Given the description of an element on the screen output the (x, y) to click on. 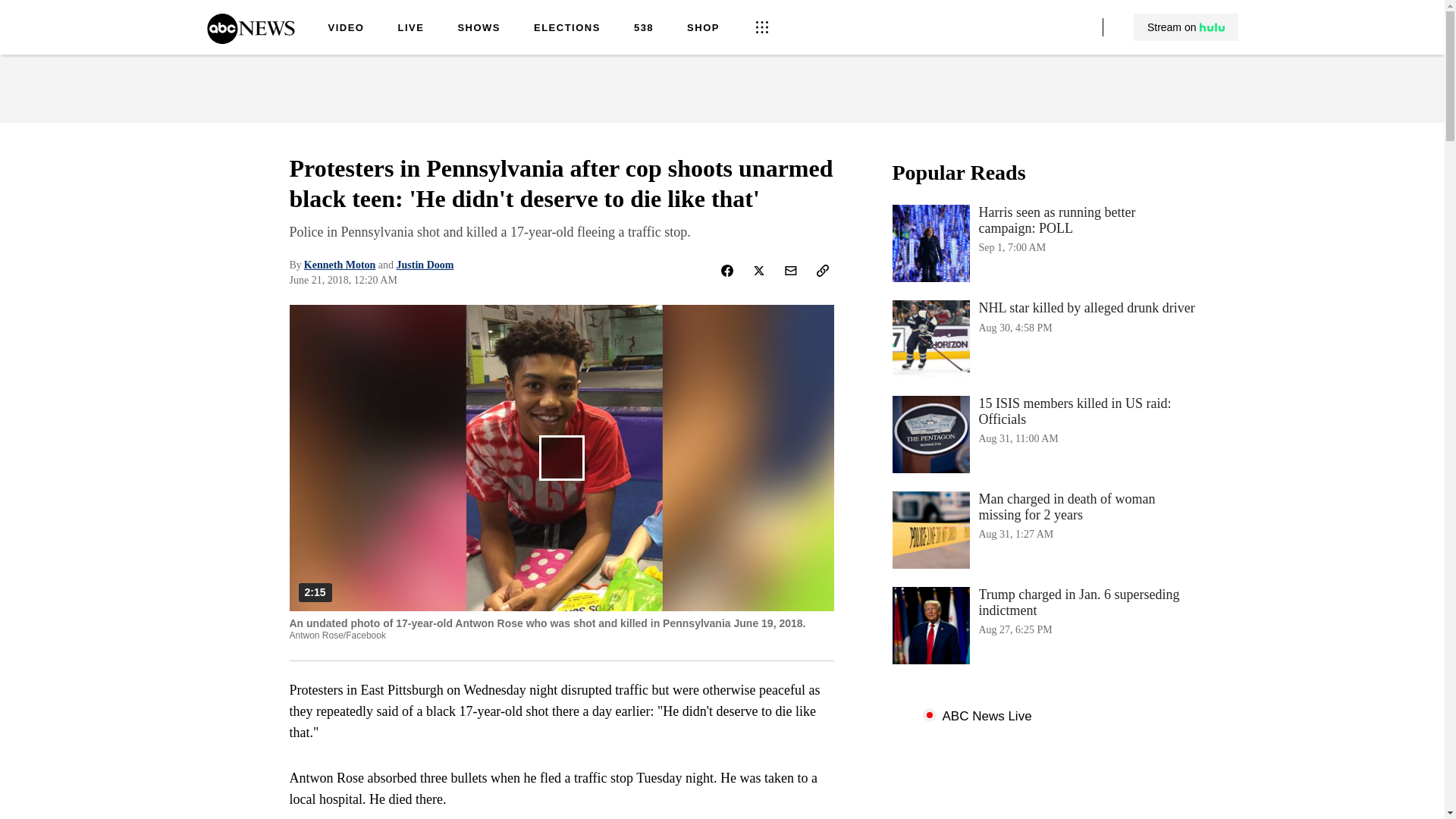
538 (643, 28)
ELECTIONS (1043, 242)
Stream on (566, 28)
VIDEO (1186, 26)
SHOP (345, 28)
SHOWS (703, 28)
Kenneth Moton (478, 28)
